Given the description of an element on the screen output the (x, y) to click on. 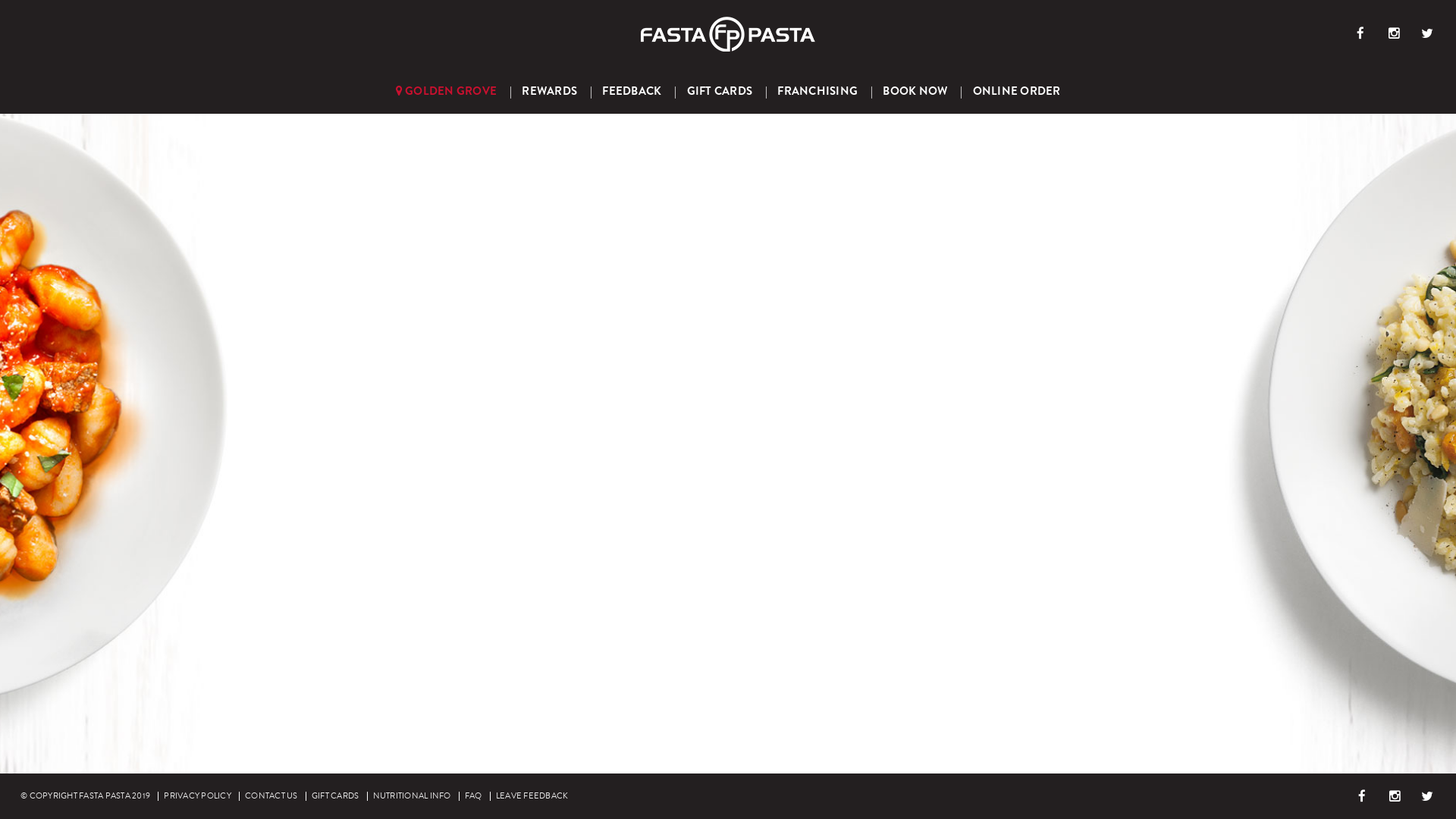
ONLINE ORDER Element type: text (1016, 90)
CONTACT US Element type: text (270, 795)
REWARDS Element type: text (549, 90)
FRANCHISING Element type: text (817, 90)
BOOK NOW Element type: text (914, 90)
FAQ Element type: text (472, 795)
GIFT CARDS Element type: text (334, 795)
NUTRITIONAL INFO Element type: text (411, 795)
FEEDBACK Element type: text (631, 90)
LEAVE FEEDBACK Element type: text (531, 795)
GIFT CARDS Element type: text (718, 90)
GOLDEN GROVE Element type: text (445, 90)
PRIVACY POLICY Element type: text (196, 795)
